Given the description of an element on the screen output the (x, y) to click on. 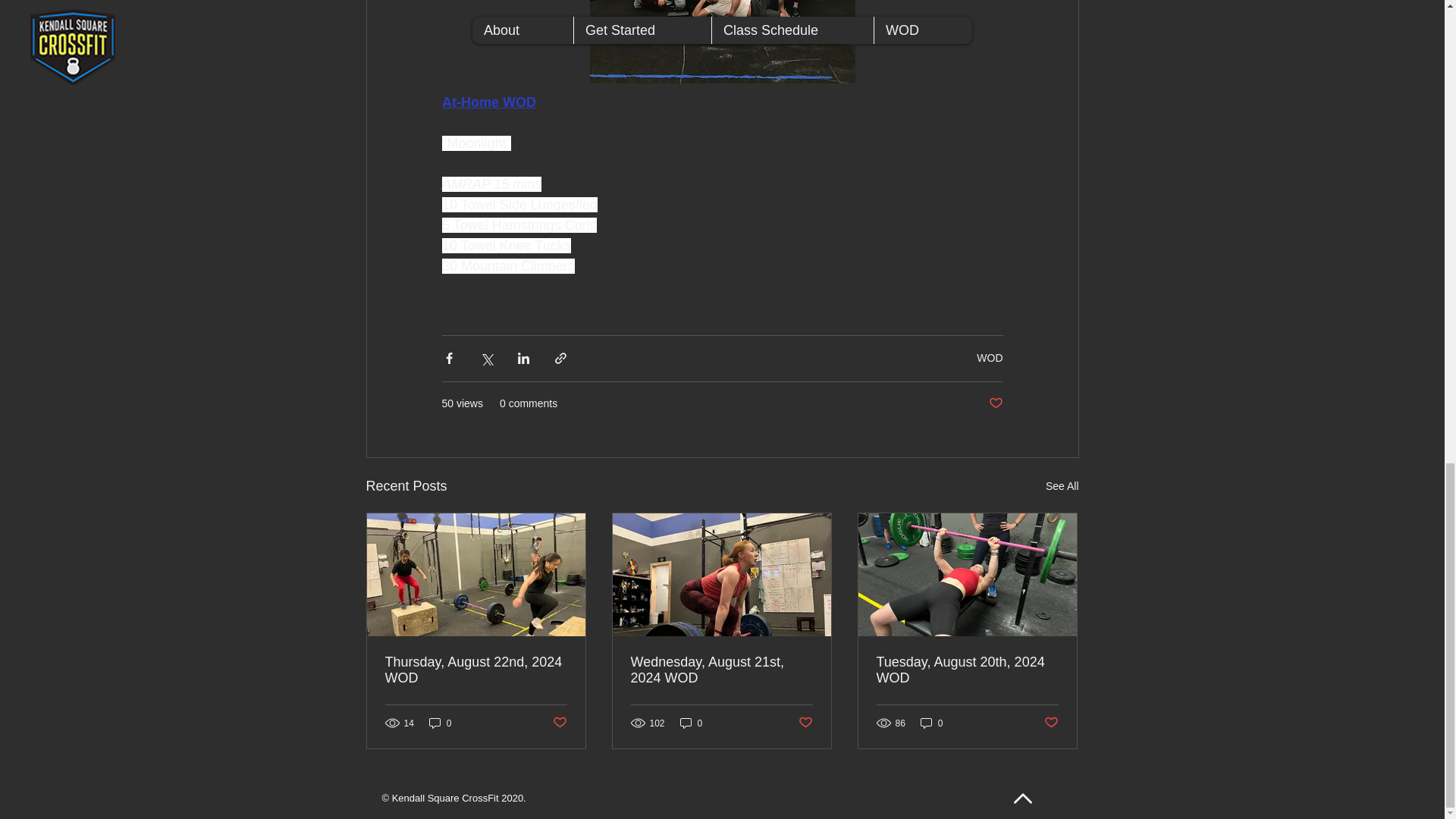
See All (1061, 486)
Post not marked as liked (558, 722)
0 (691, 722)
Post not marked as liked (995, 403)
0 (931, 722)
Wednesday, August 21st, 2024 WOD (721, 670)
Post not marked as liked (1050, 722)
Tuesday, August 20th, 2024 WOD (967, 670)
Post not marked as liked (804, 722)
Thursday, August 22nd, 2024 WOD (476, 670)
